Given the description of an element on the screen output the (x, y) to click on. 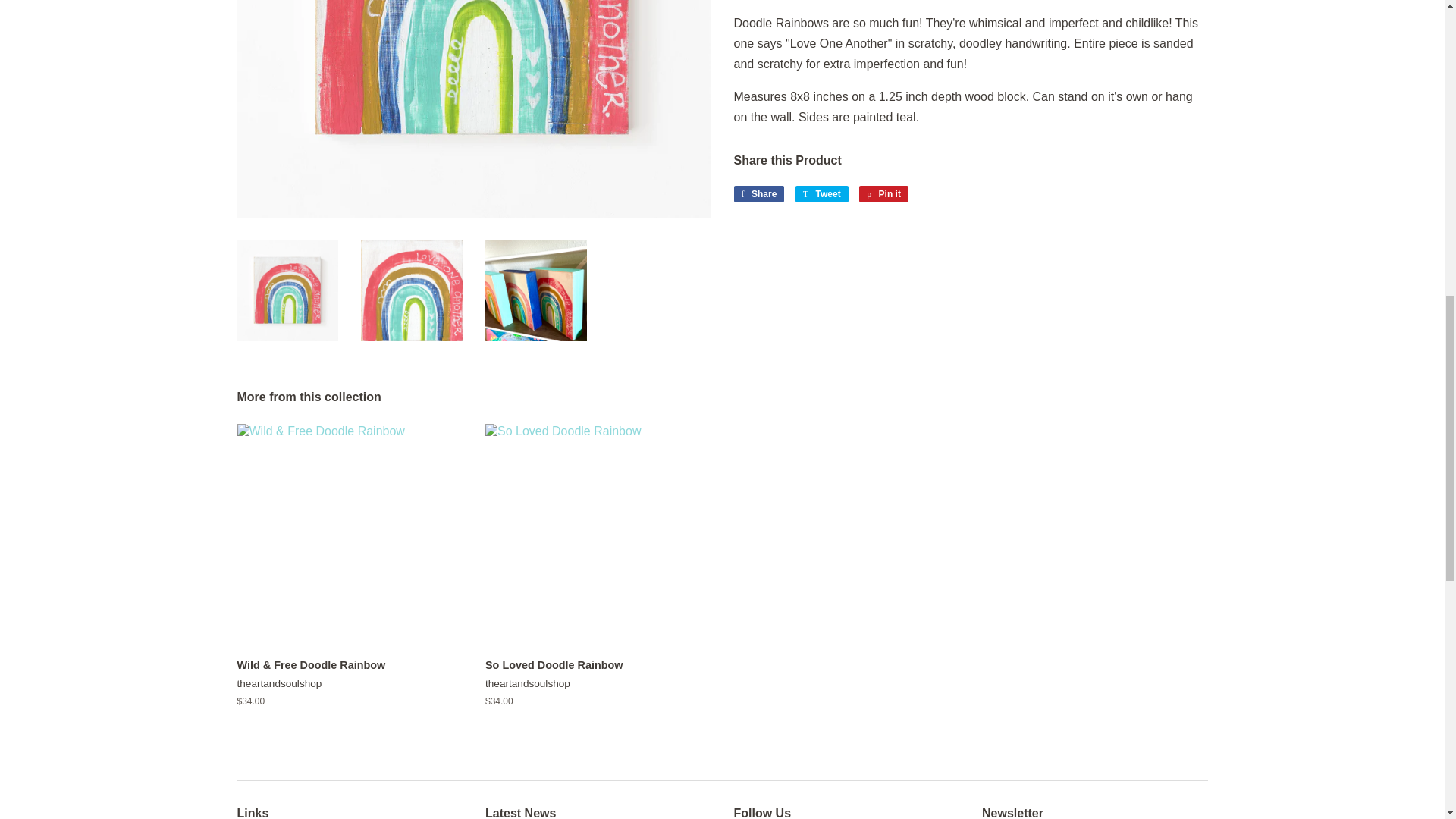
Share on Facebook (758, 193)
Pin on Pinterest (883, 193)
Tweet on Twitter (821, 193)
